Given the description of an element on the screen output the (x, y) to click on. 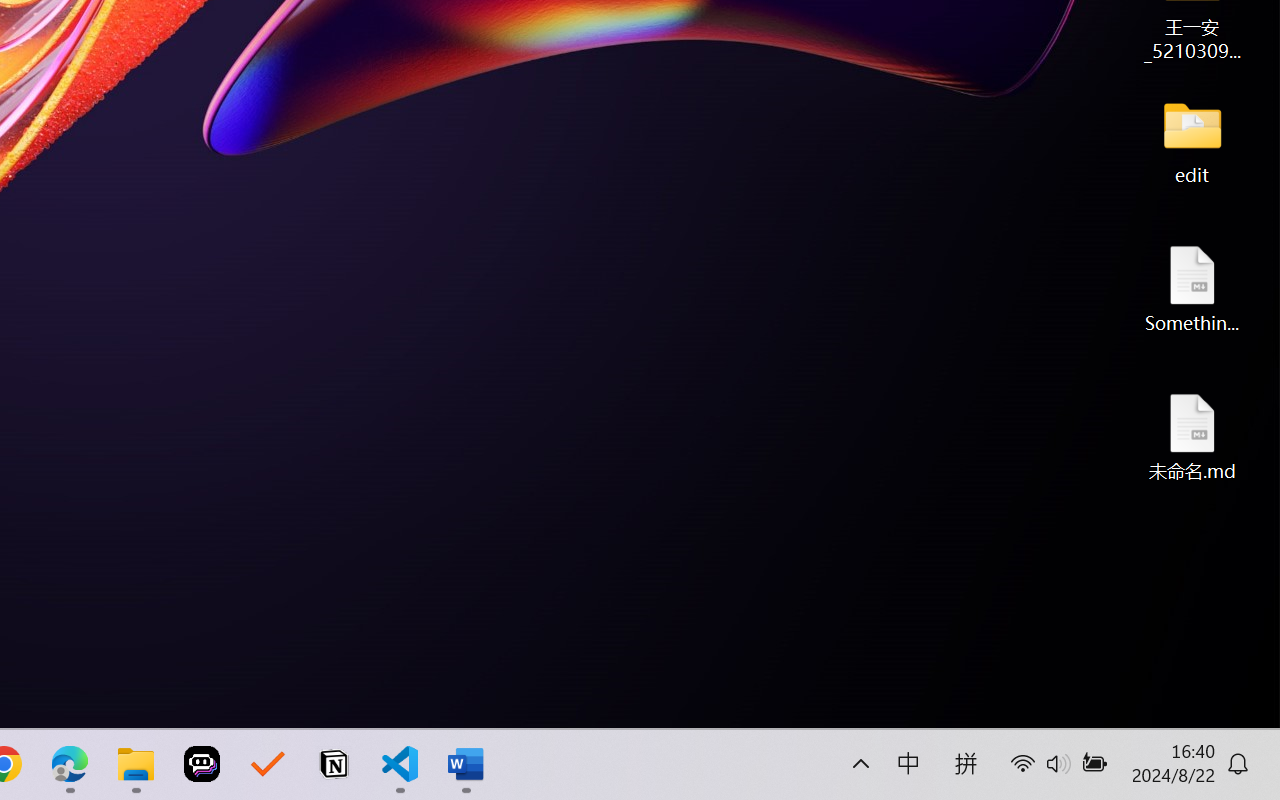
Notion (333, 764)
edit (1192, 140)
Poe (201, 764)
Something.md (1192, 288)
